Given the description of an element on the screen output the (x, y) to click on. 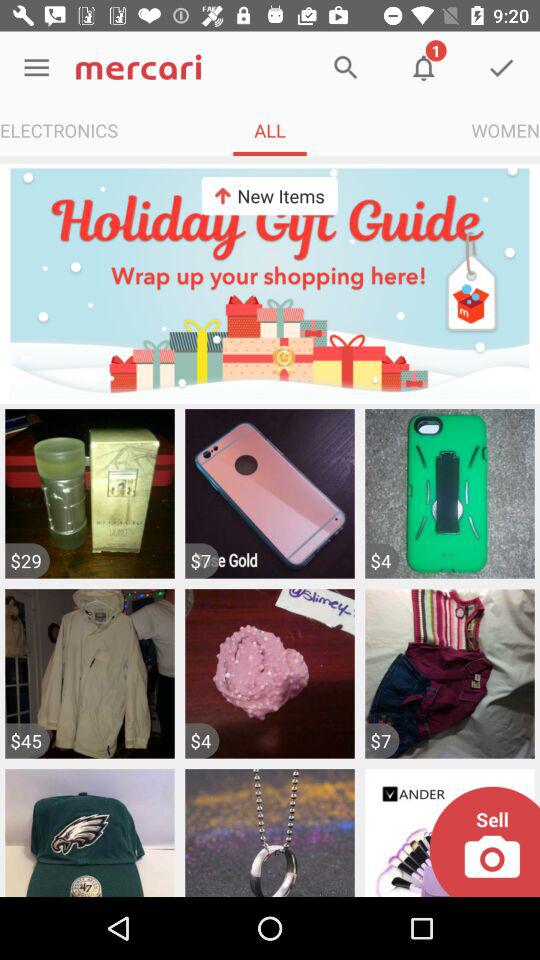
new items category (270, 283)
